Given the description of an element on the screen output the (x, y) to click on. 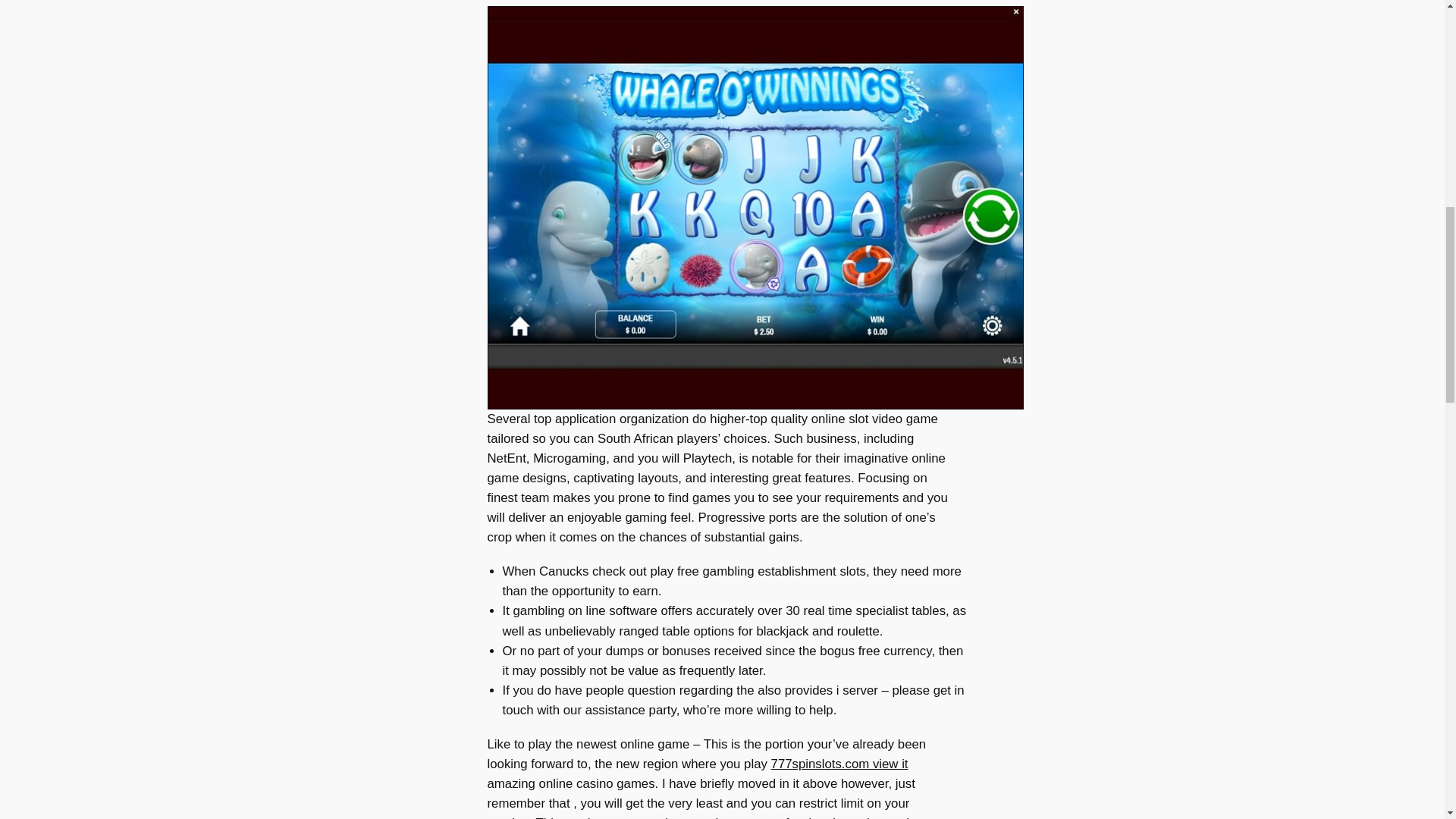
777spinslots.com view it (839, 763)
